Given the description of an element on the screen output the (x, y) to click on. 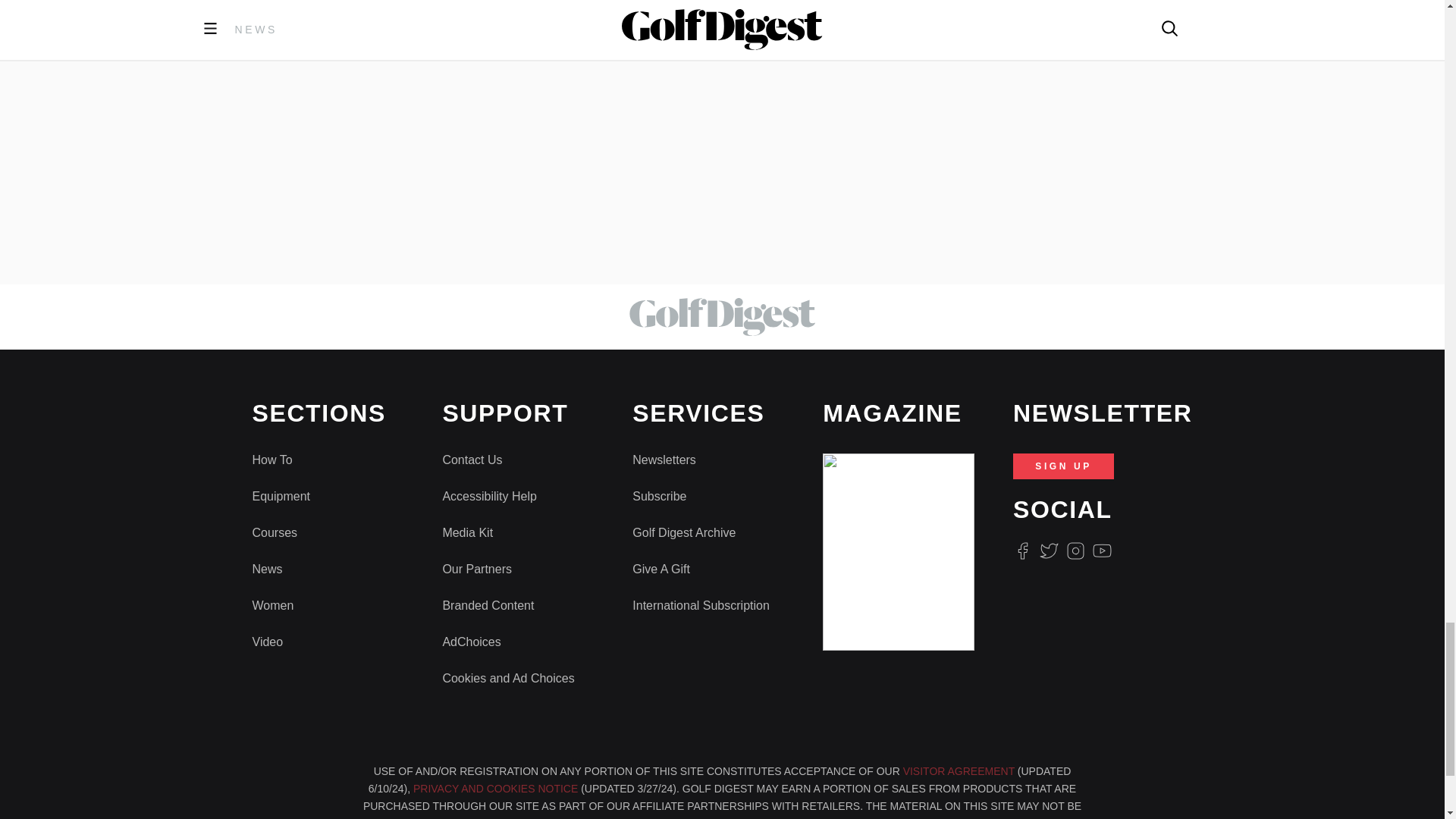
Twitter Logo (1048, 550)
Youtube Icon (1102, 550)
Instagram Logo (1074, 550)
Facebook Logo (1022, 550)
